Given the description of an element on the screen output the (x, y) to click on. 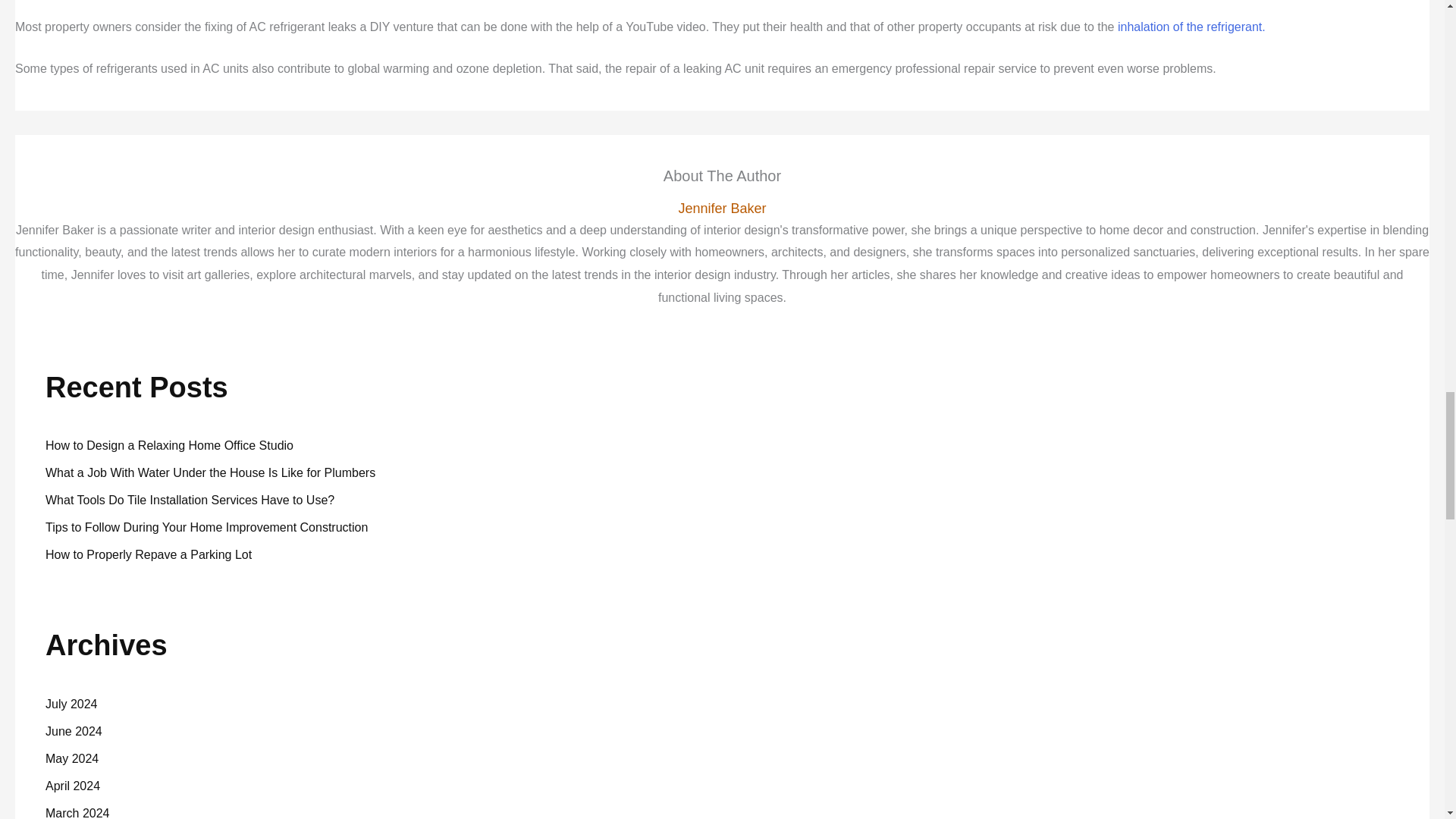
inhalation of the refrigerant. (1191, 26)
Jennifer Baker (721, 209)
What Tools Do Tile Installation Services Have to Use? (189, 499)
Department of Energy (1191, 26)
April 2024 (72, 785)
Tips to Follow During Your Home Improvement Construction (206, 526)
What a Job With Water Under the House Is Like for Plumbers (210, 472)
March 2024 (77, 812)
How to Design a Relaxing Home Office Studio (169, 445)
July 2024 (71, 703)
